Given the description of an element on the screen output the (x, y) to click on. 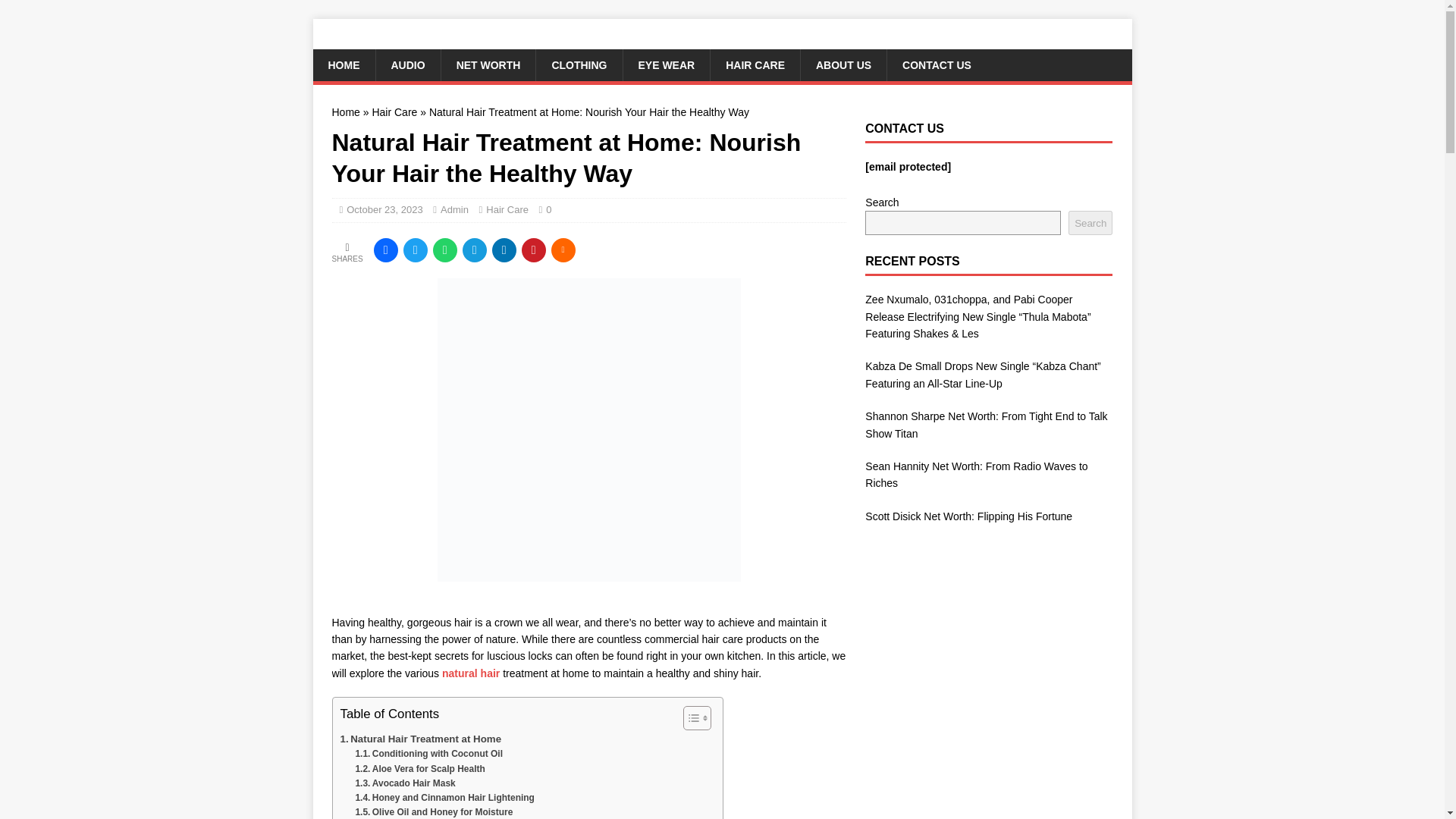
Avocado Hair Mask (404, 783)
CLOTHING (578, 65)
Natural Hair Treatment at Home (419, 738)
Avocado Hair Mask (404, 783)
Hair Care (507, 209)
Natural Hair Treatment at Home (419, 738)
NET WORTH (488, 65)
Telegram (474, 250)
Olive Oil and Honey for Moisture (433, 812)
HAIR CARE (754, 65)
Honey and Cinnamon Hair Lightening (444, 798)
Aloe Vera for Scalp Health (419, 769)
WhatsApp (444, 250)
Admin (454, 209)
Hair Care (393, 111)
